Given the description of an element on the screen output the (x, y) to click on. 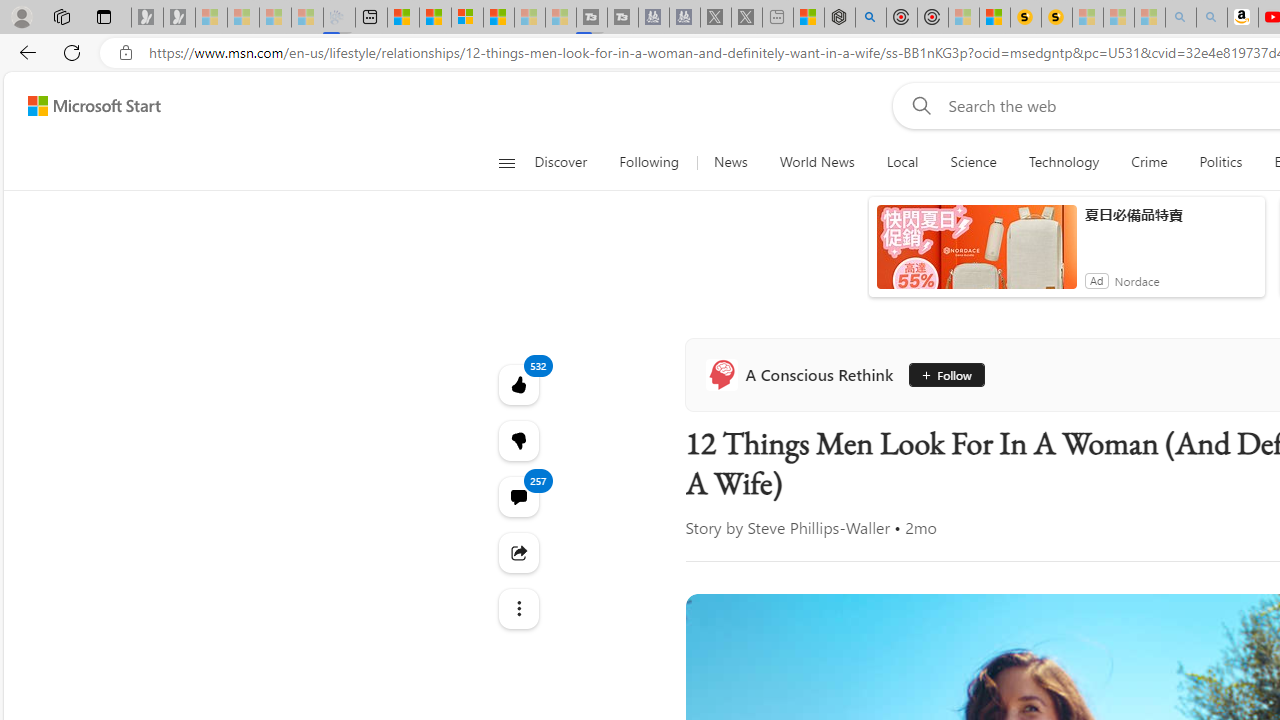
New tab - Sleeping (777, 17)
News (730, 162)
amazon - Search - Sleeping (1180, 17)
Science (973, 162)
More like this532Fewer like thisView comments (517, 440)
Amazon Echo Dot PNG - Search Images - Sleeping (1211, 17)
